Given the description of an element on the screen output the (x, y) to click on. 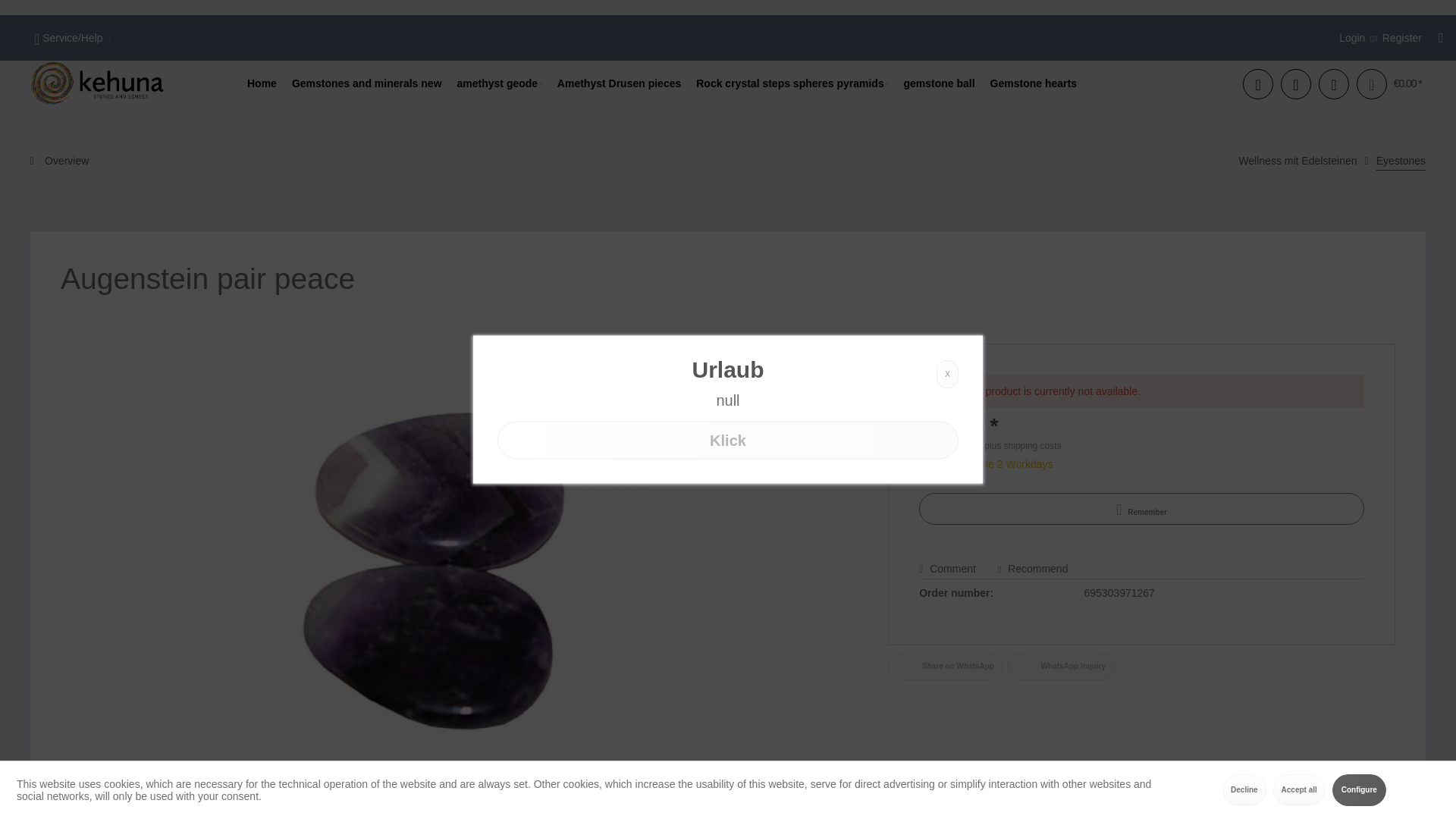
Gemstone hearts (1033, 83)
Home (261, 83)
Amethyst Drusen pieces (619, 83)
Amethyst Drusen pieces (619, 83)
Gemstone hearts (1033, 83)
Gemstones and minerals new (366, 83)
amethyst geode (499, 83)
Amethyst Drusen pieces (619, 83)
Register (1401, 37)
Rock crystal steps spheres pyramids (791, 83)
Home (261, 83)
Login (1351, 37)
Rock crystal steps spheres pyramids (791, 83)
Login (1351, 37)
